Given the description of an element on the screen output the (x, y) to click on. 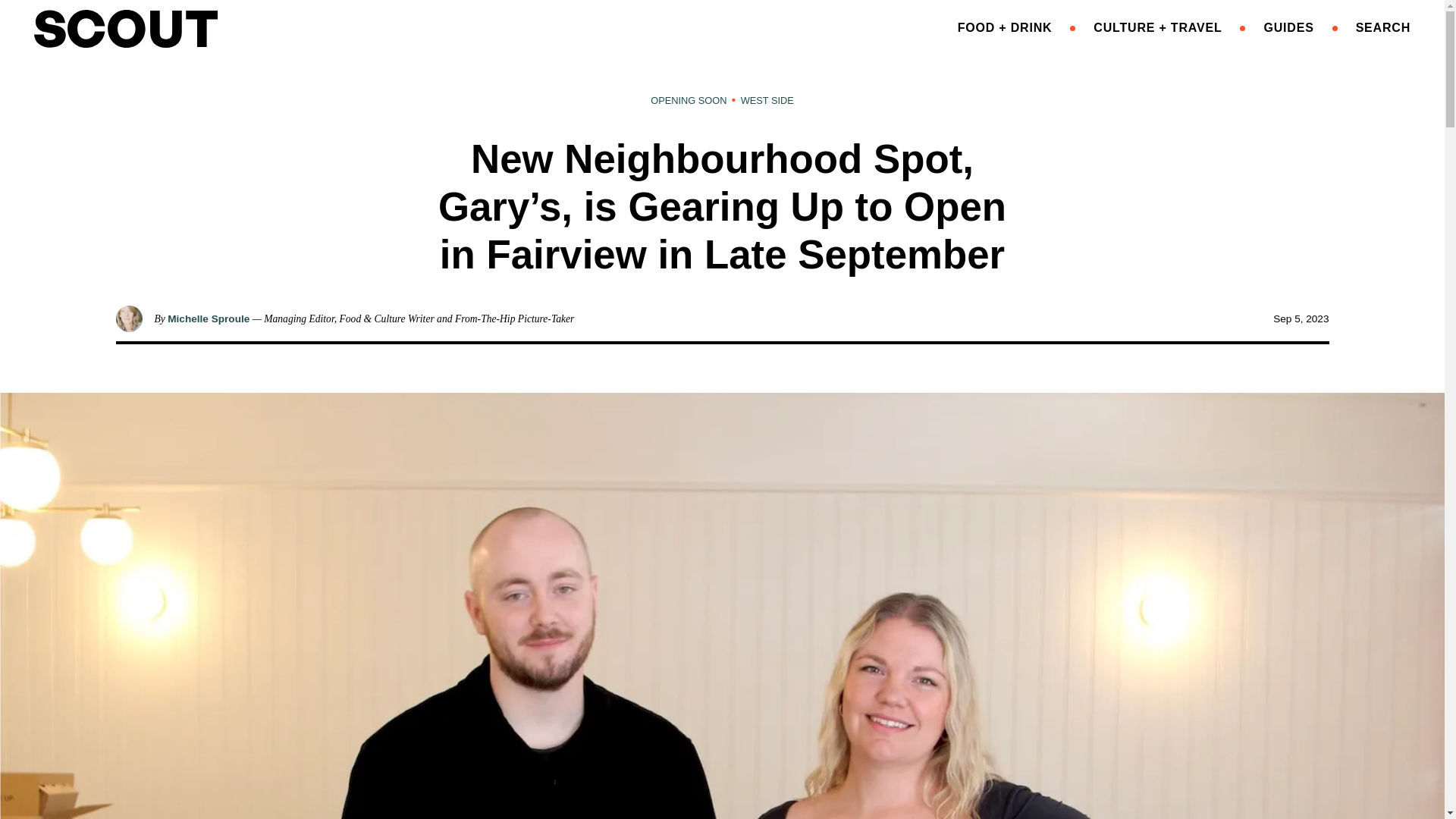
SEARCH (1382, 27)
WEST SIDE (767, 100)
GUIDES (1288, 27)
OPENING SOON (688, 100)
2023-09-05T13:54:51-07:00 (1299, 318)
Michelle Sproule (207, 318)
